Given the description of an element on the screen output the (x, y) to click on. 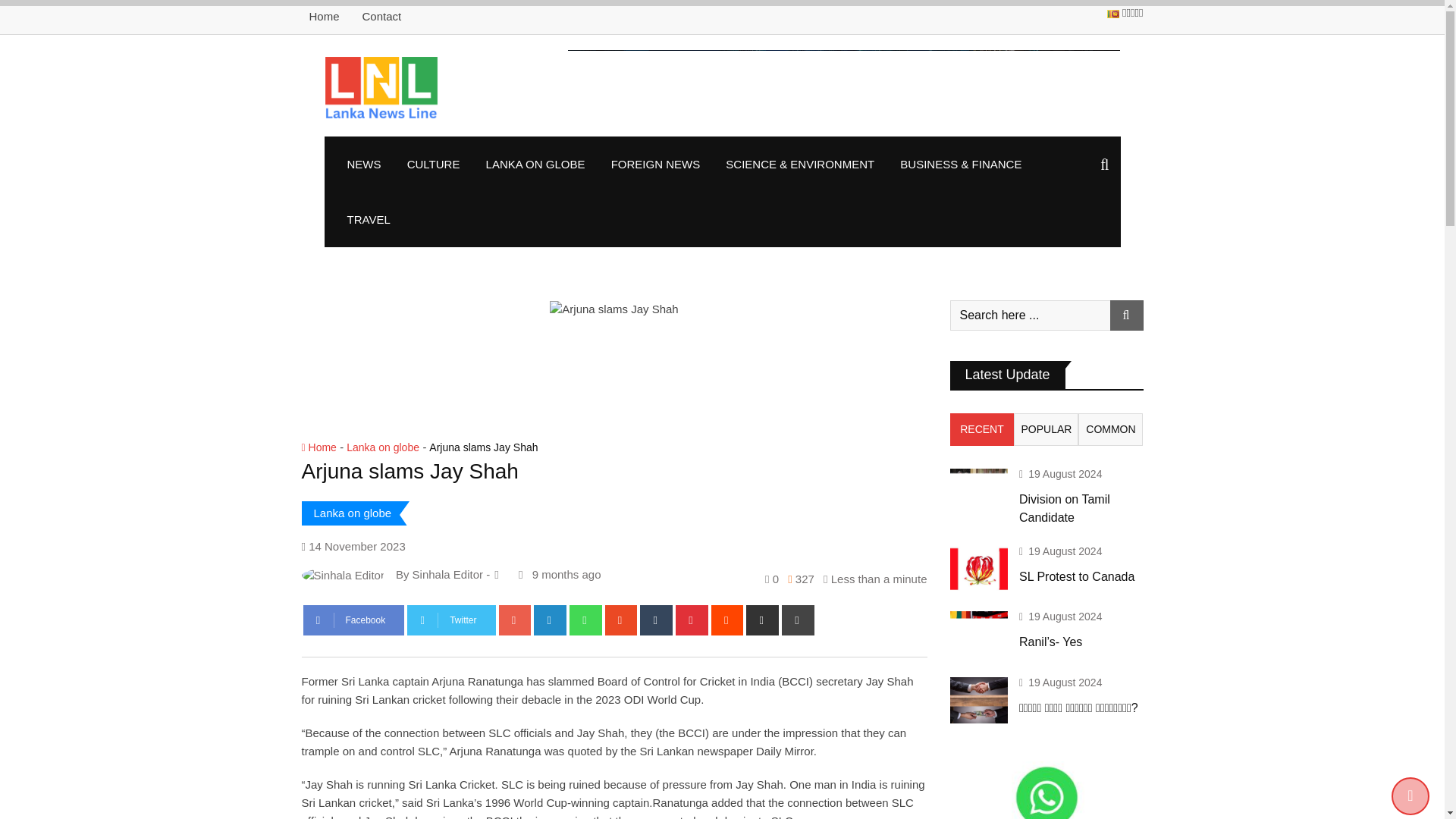
SL Protest to Canada (978, 569)
Home (323, 15)
FOREIGN NEWS (655, 163)
Division on Tamil Candidate (978, 491)
TRAVEL (367, 219)
CULTURE (433, 163)
Contact (381, 15)
NEWS (362, 163)
LANKA ON GLOBE (535, 163)
